Given the description of an element on the screen output the (x, y) to click on. 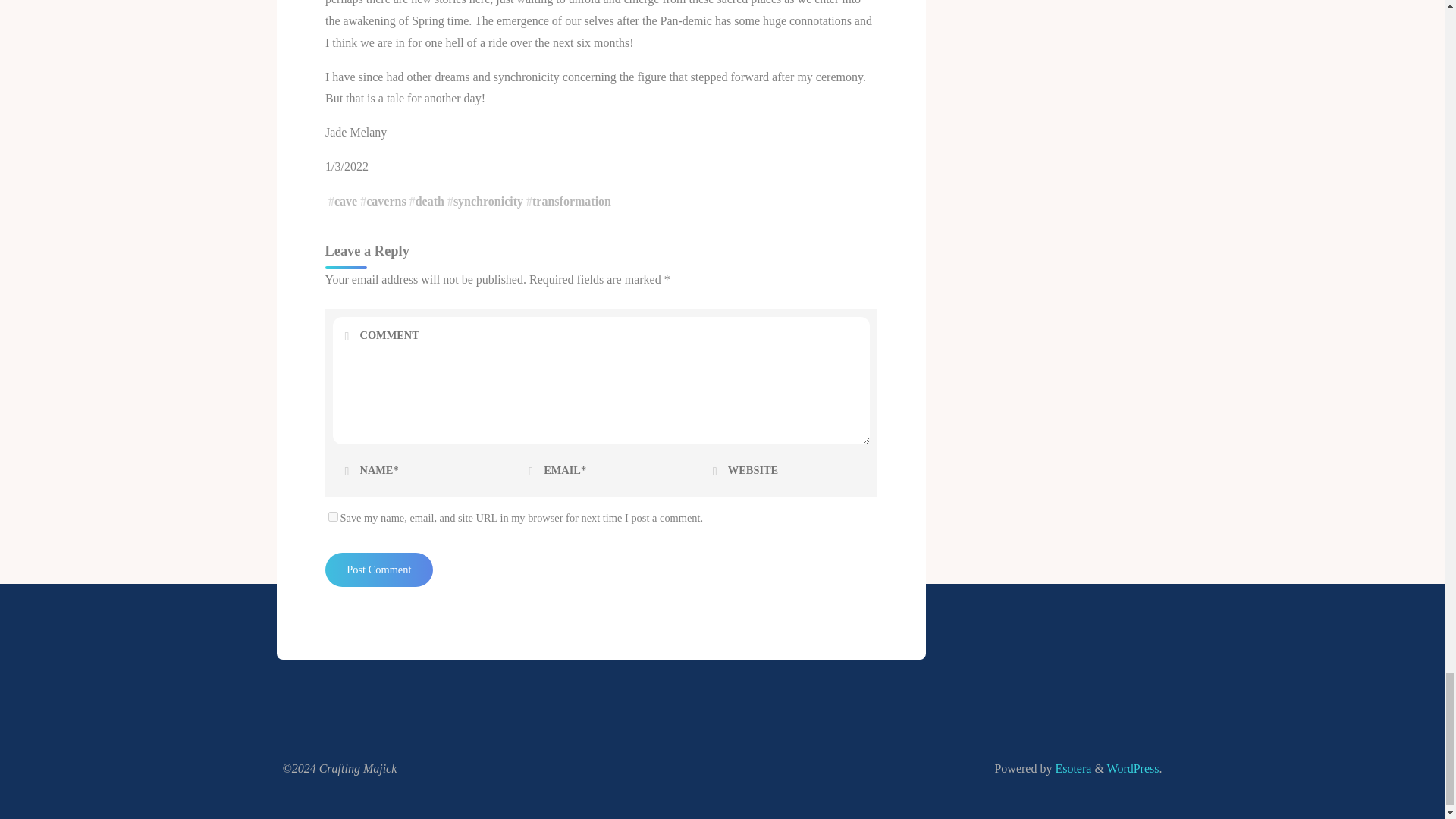
yes (332, 516)
Esotera WordPress Theme by Cryout Creations (1070, 768)
Semantic Personal Publishing Platform (1132, 768)
Post Comment (378, 570)
